Given the description of an element on the screen output the (x, y) to click on. 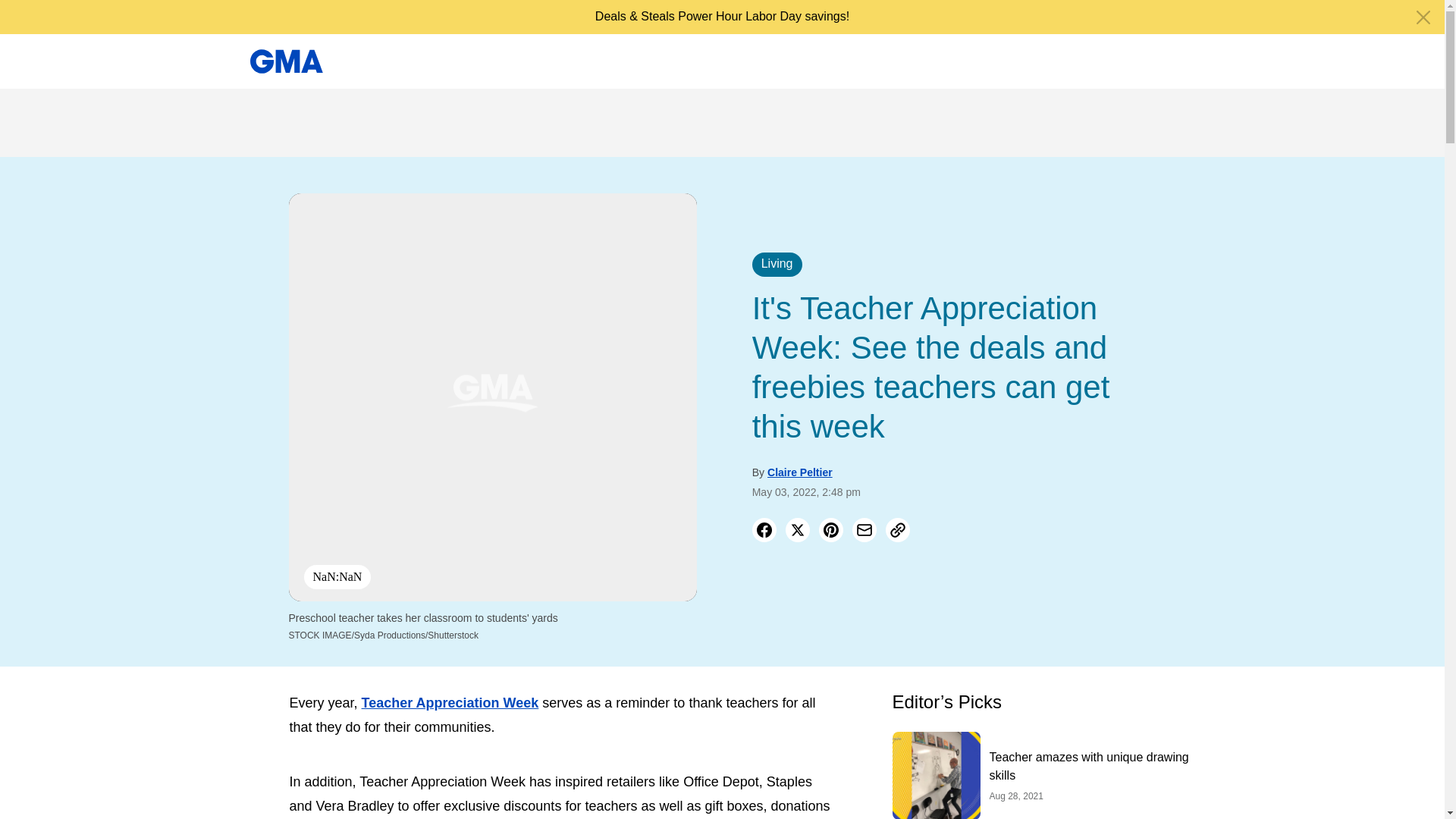
Claire Peltier (799, 472)
Living (777, 264)
Teacher Appreciation Week (449, 702)
